Given the description of an element on the screen output the (x, y) to click on. 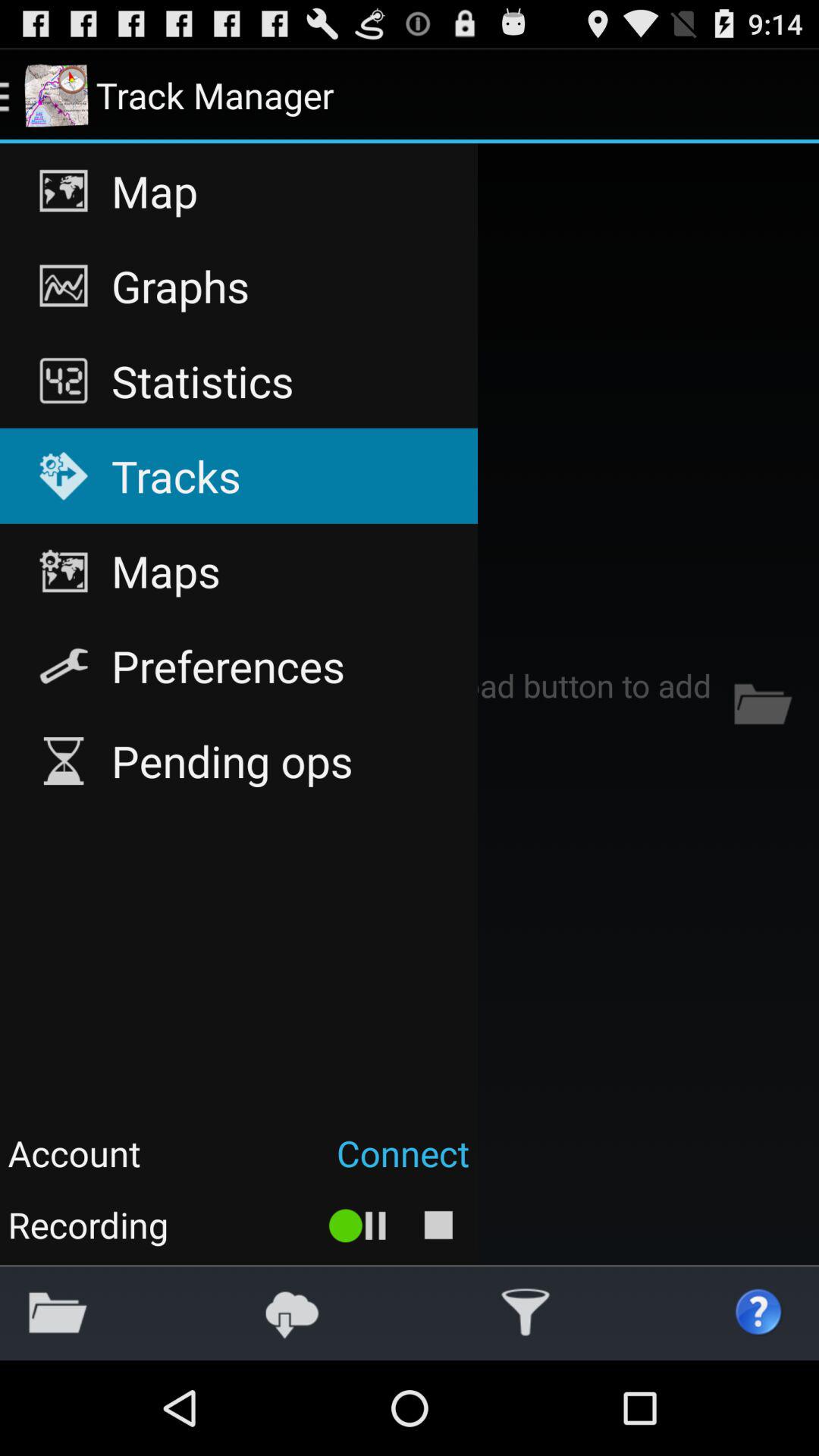
turn off graphs app (238, 285)
